Given the description of an element on the screen output the (x, y) to click on. 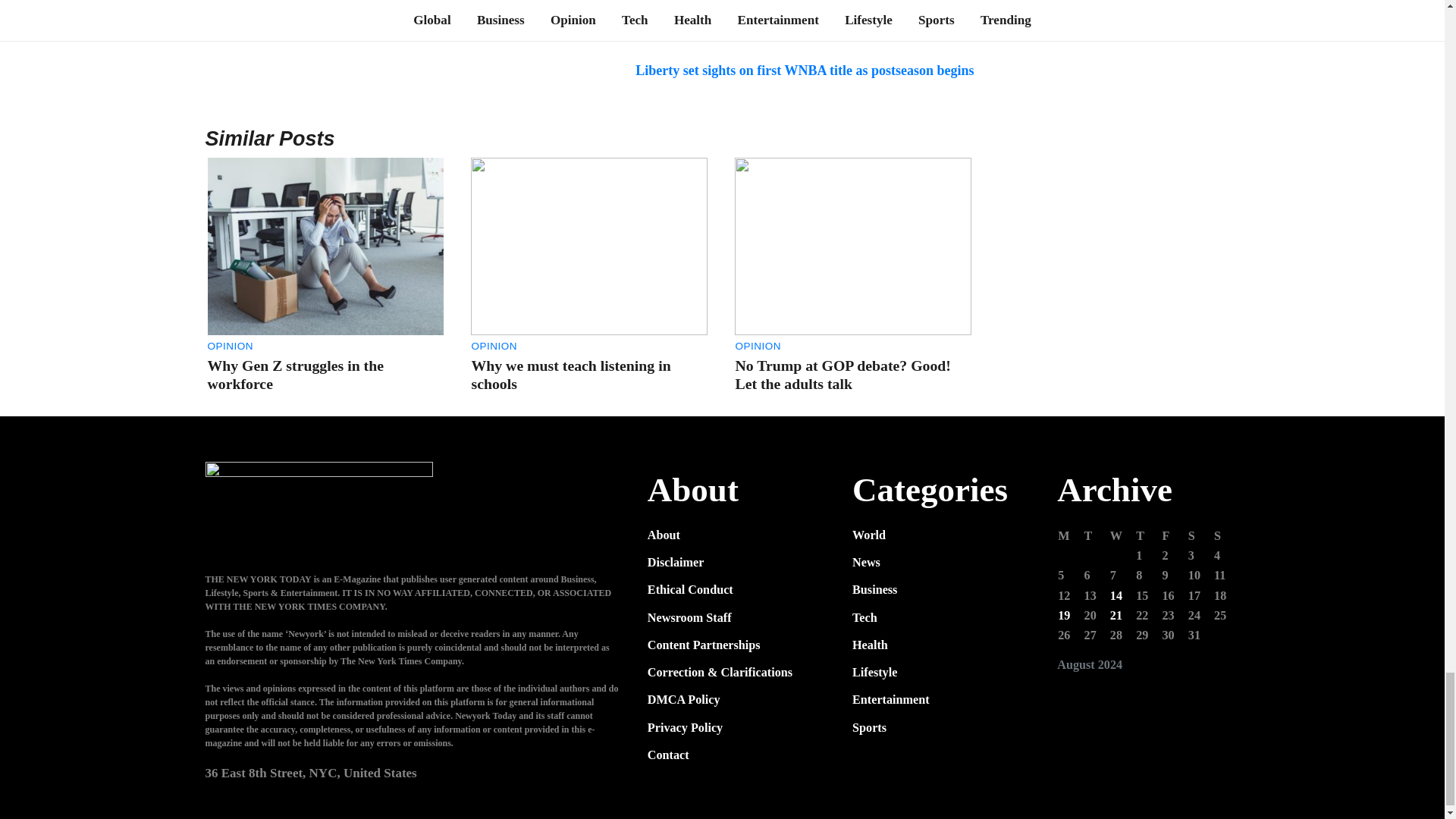
Friday (1173, 536)
Liberty set sights on first WNBA title as postseason begins (804, 70)
Why we must teach listening in schools (569, 374)
Tuesday (1096, 536)
Sunday (1225, 536)
OPINION (493, 346)
Why Gen Z struggles in the workforce (296, 374)
Thursday (1147, 536)
Saturday (1200, 536)
